Given the description of an element on the screen output the (x, y) to click on. 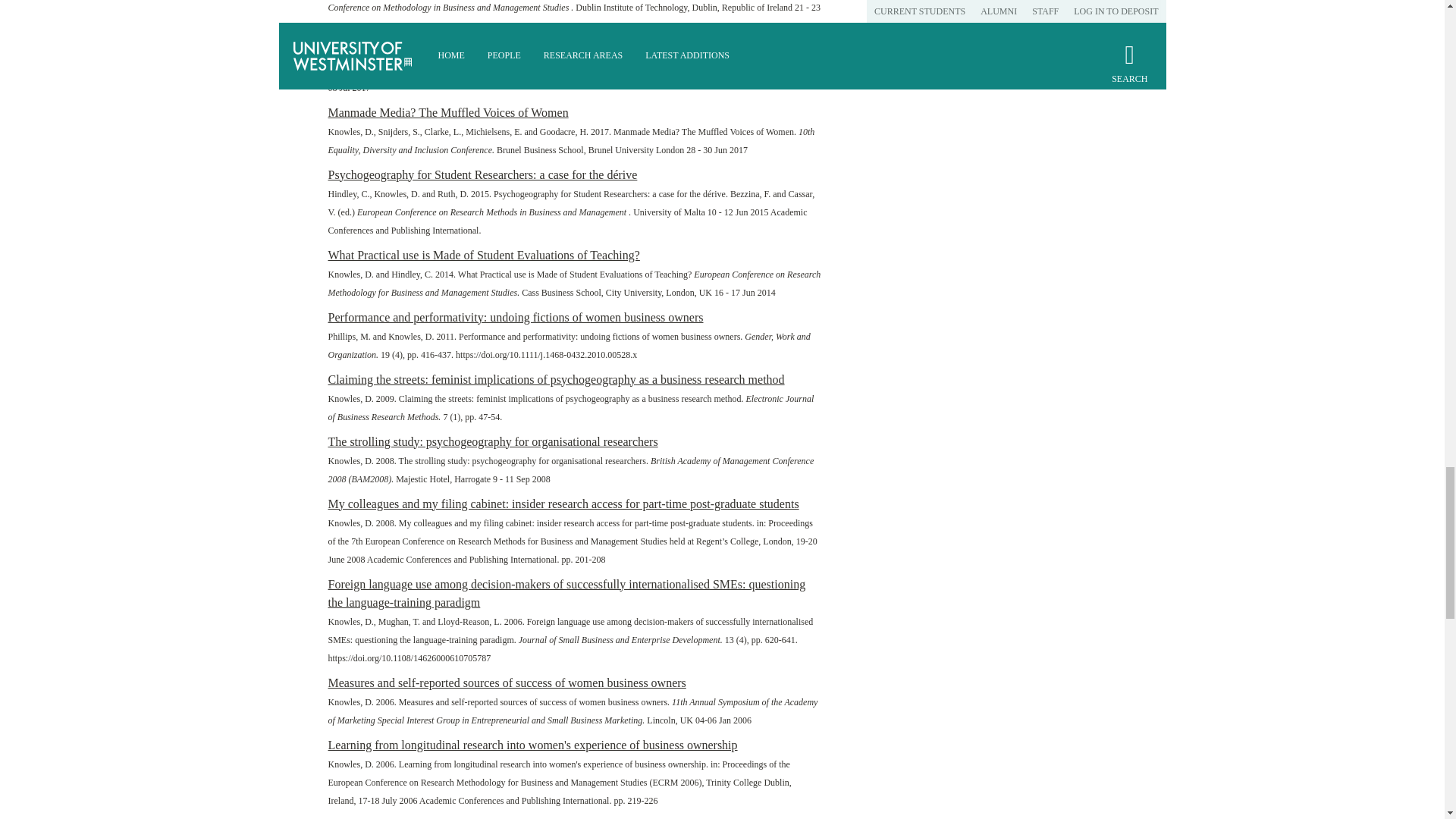
A Day in the Life of ... Ulysses in Dublin (427, 50)
Manmade Media? The Muffled Voices of Women (447, 112)
